Given the description of an element on the screen output the (x, y) to click on. 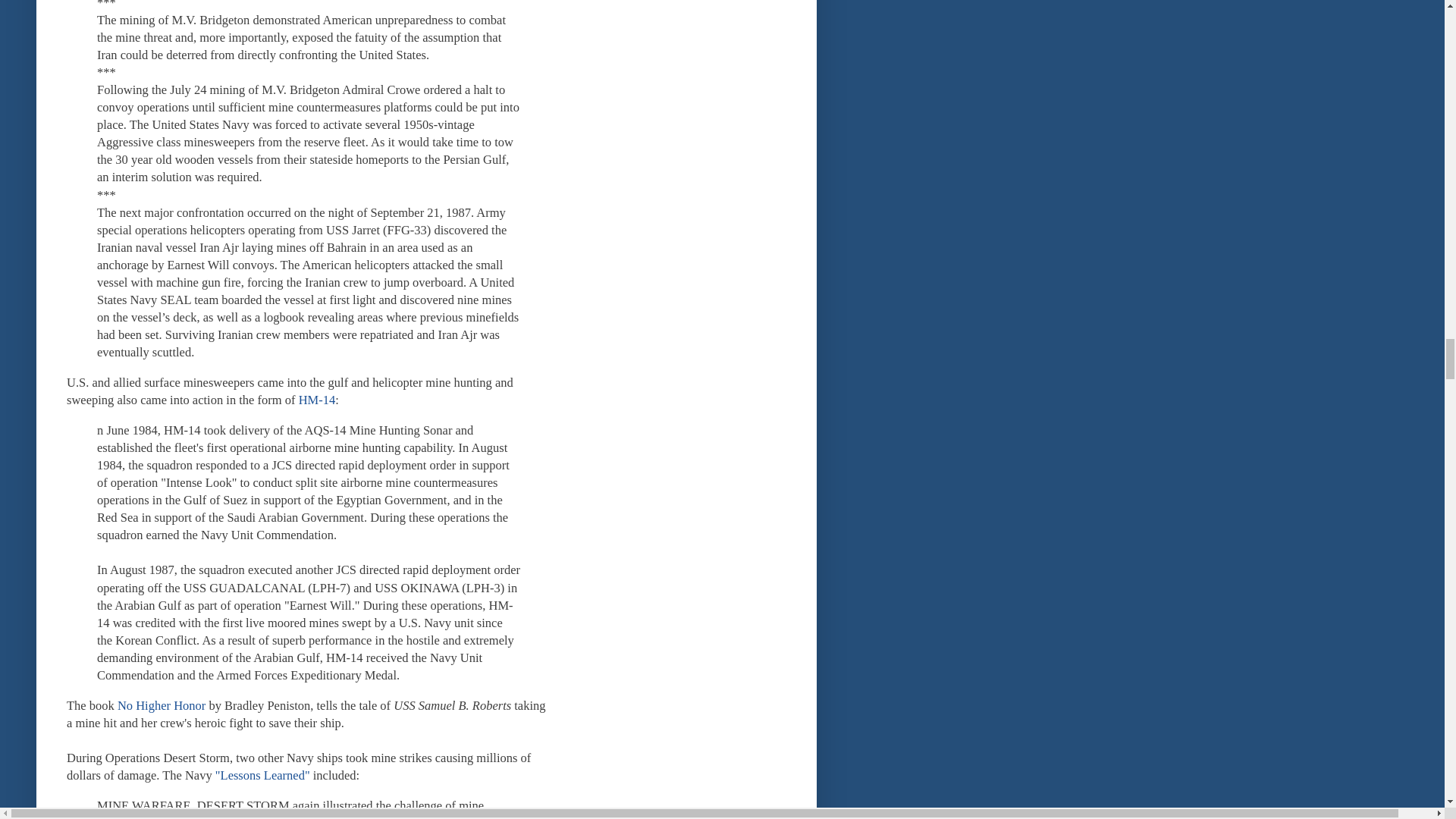
"Lessons Learned" (262, 775)
No Higher Honor (161, 705)
HM-14 (317, 400)
